Given the description of an element on the screen output the (x, y) to click on. 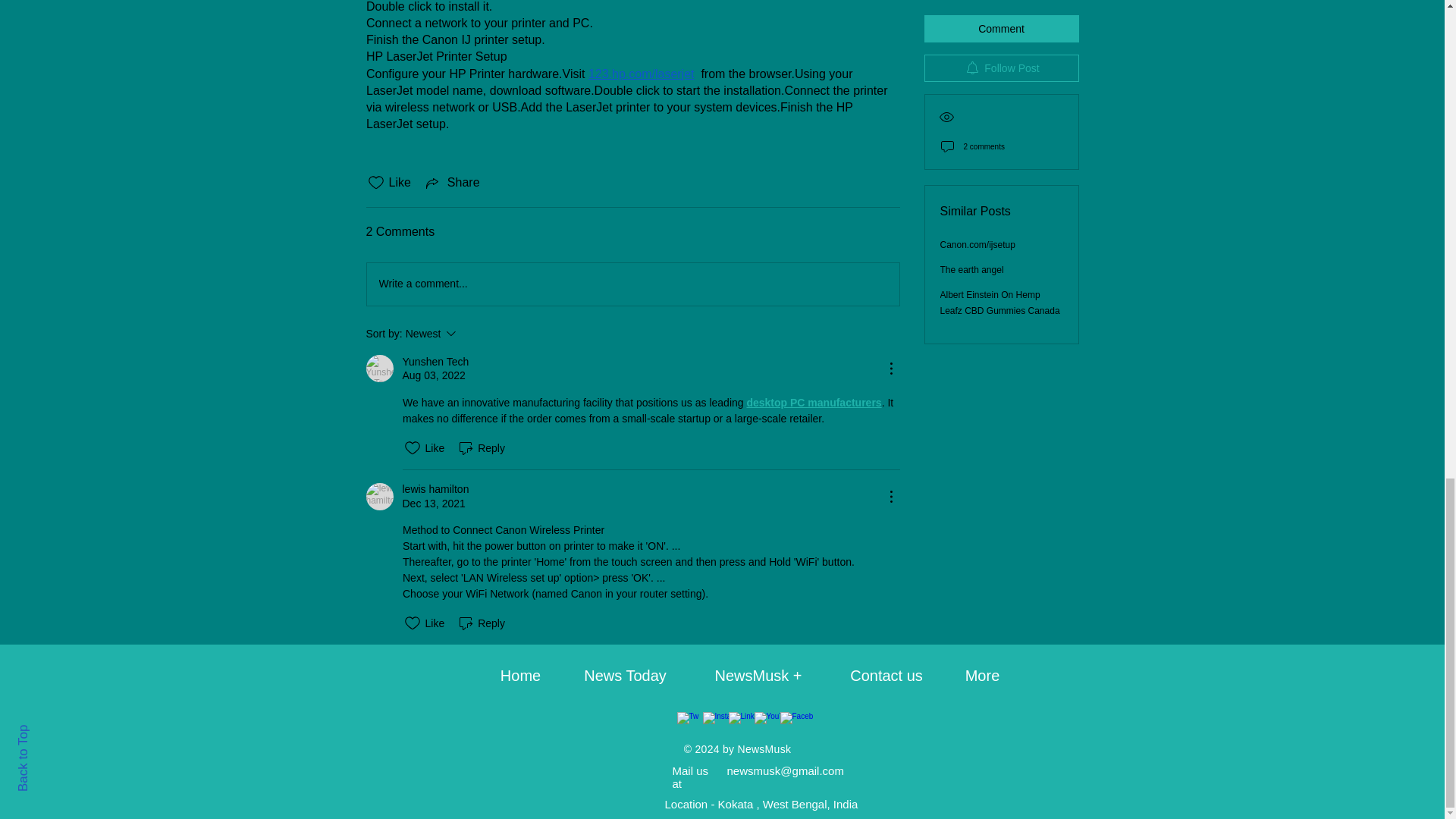
Reply (481, 447)
lewis hamilton (379, 496)
Yunshen Tech (434, 361)
desktop PC manufacturers (812, 402)
Yunshen Tech (379, 368)
Write a comment... (632, 283)
lewis hamilton (471, 333)
Reply (434, 489)
Share (481, 623)
